Given the description of an element on the screen output the (x, y) to click on. 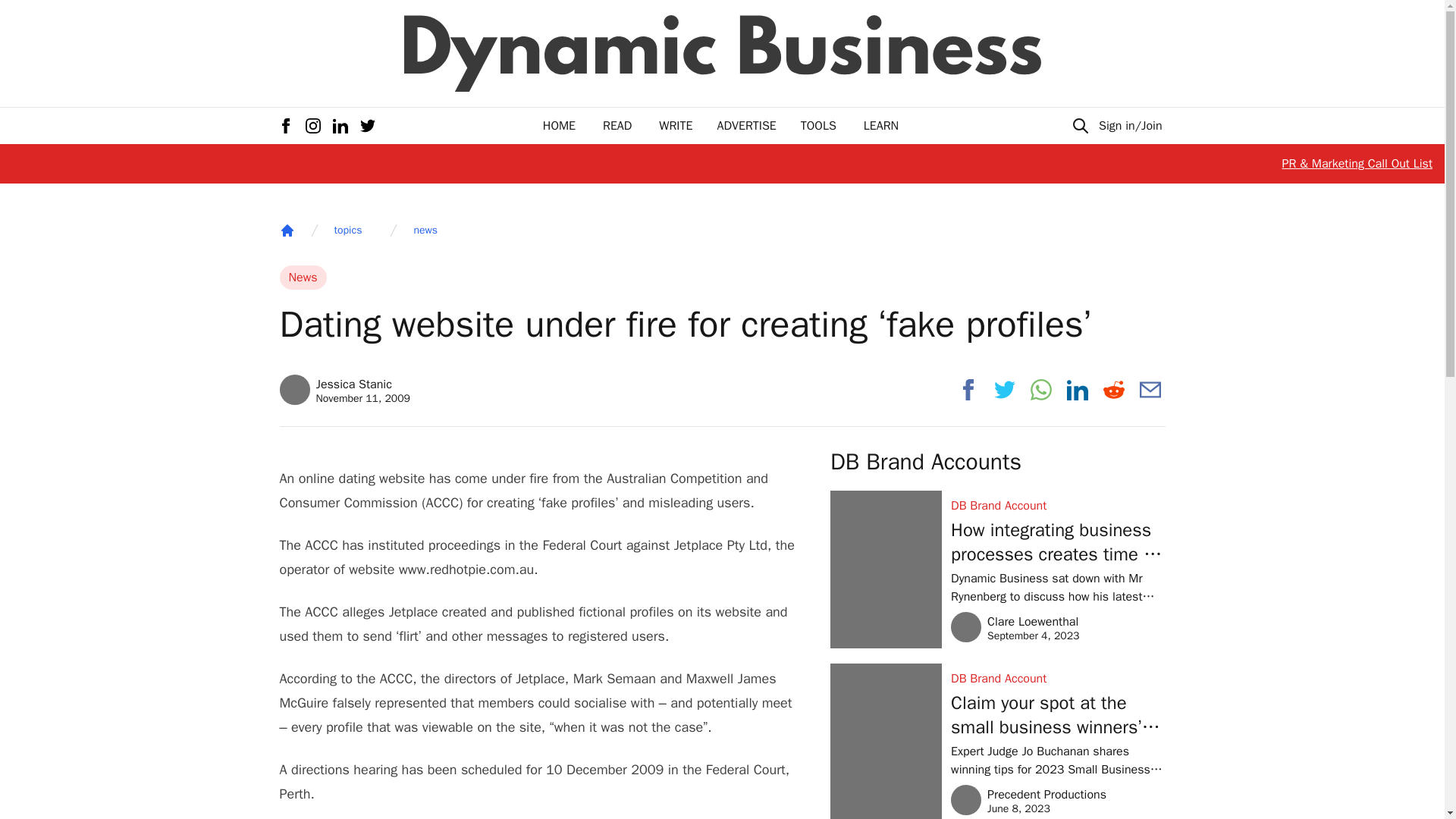
news (425, 230)
How integrating business processes creates time for growth (1057, 542)
LEARN (1014, 626)
HOME (880, 126)
DB Brand Account (559, 126)
DB Brand Account (1057, 678)
Home (1057, 505)
News (286, 230)
WRITE (302, 277)
